Given the description of an element on the screen output the (x, y) to click on. 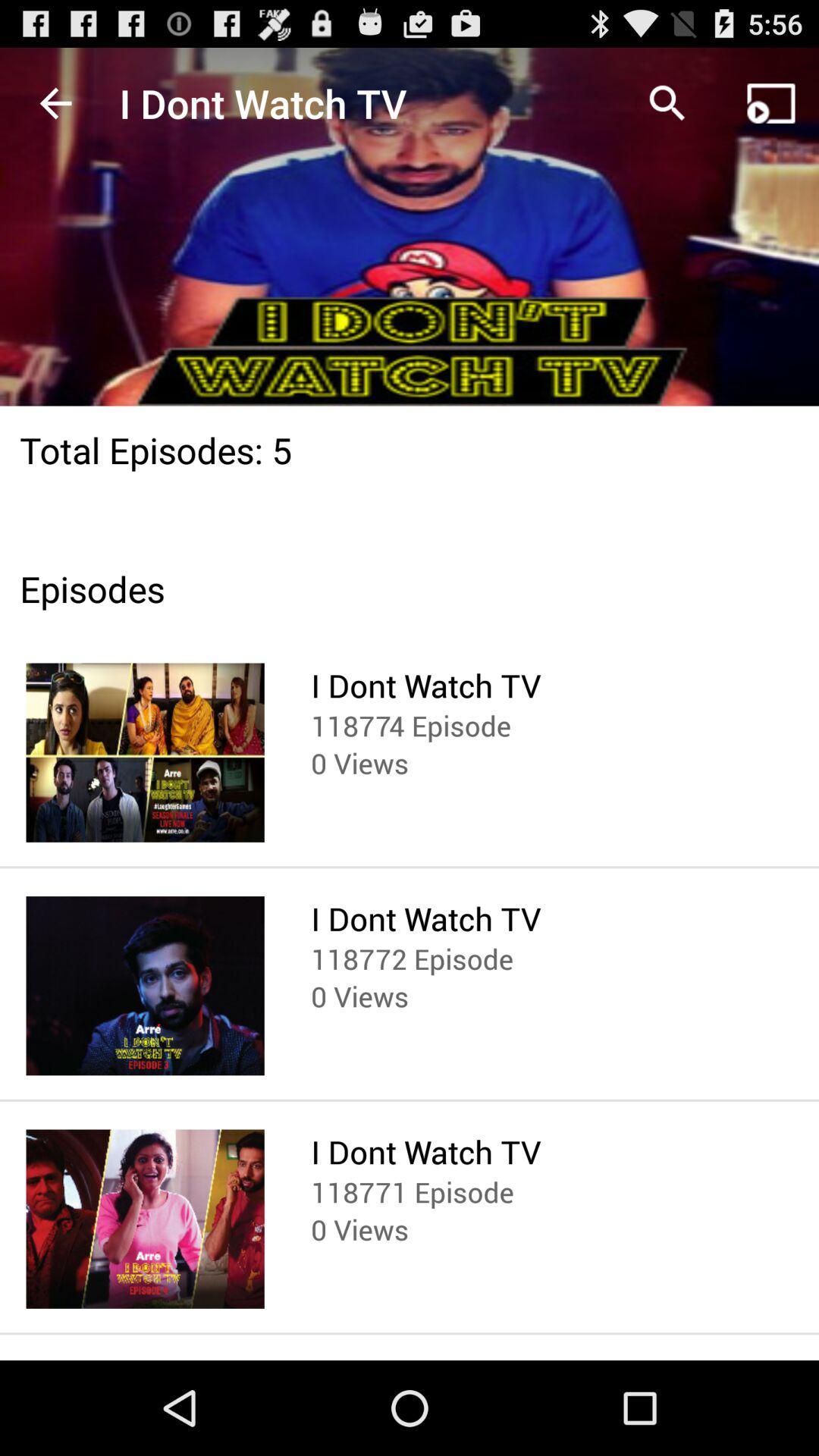
select icon which is after search icon on the page (771, 103)
